Given the description of an element on the screen output the (x, y) to click on. 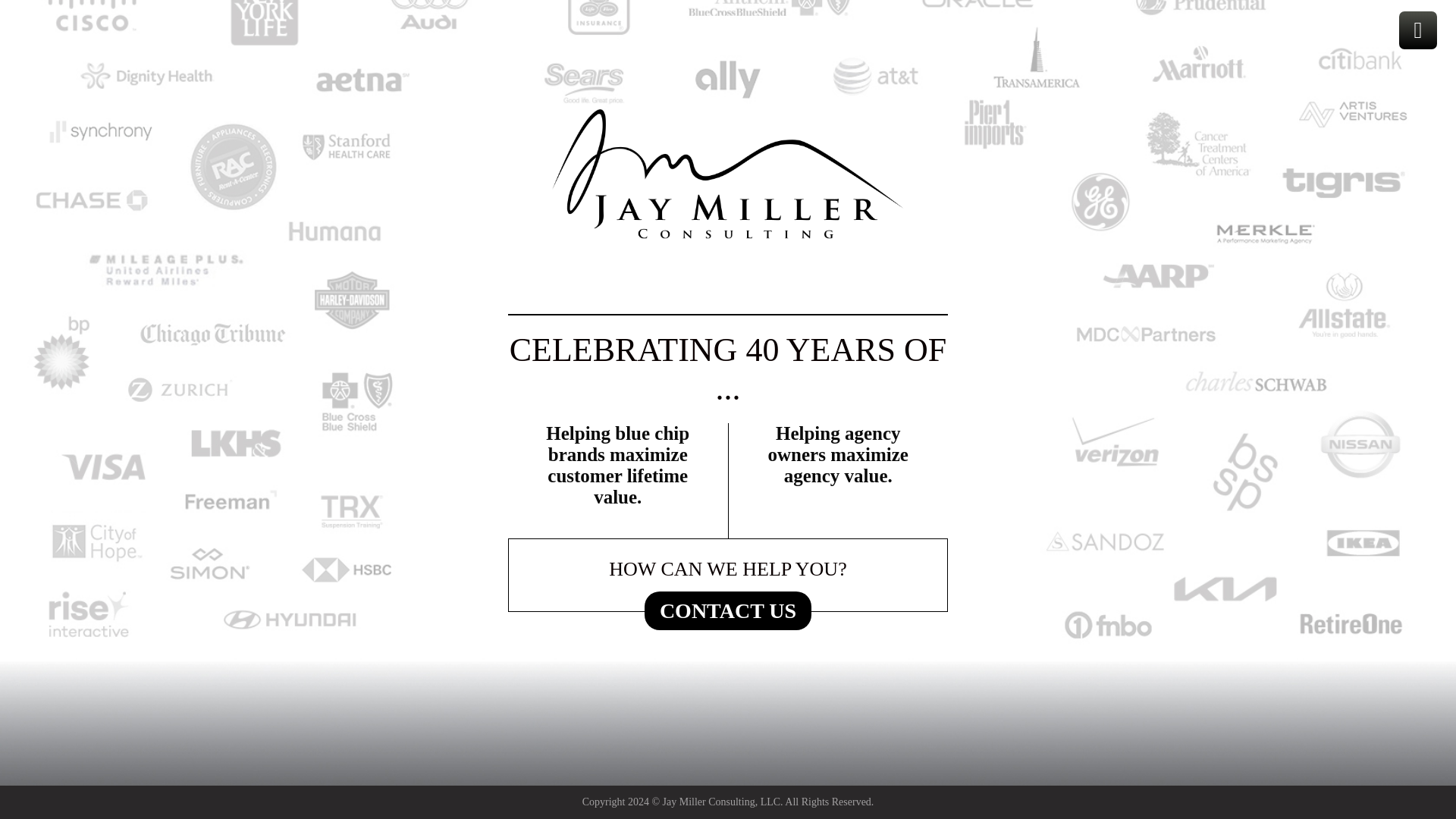
CONTACT US (727, 610)
